Given the description of an element on the screen output the (x, y) to click on. 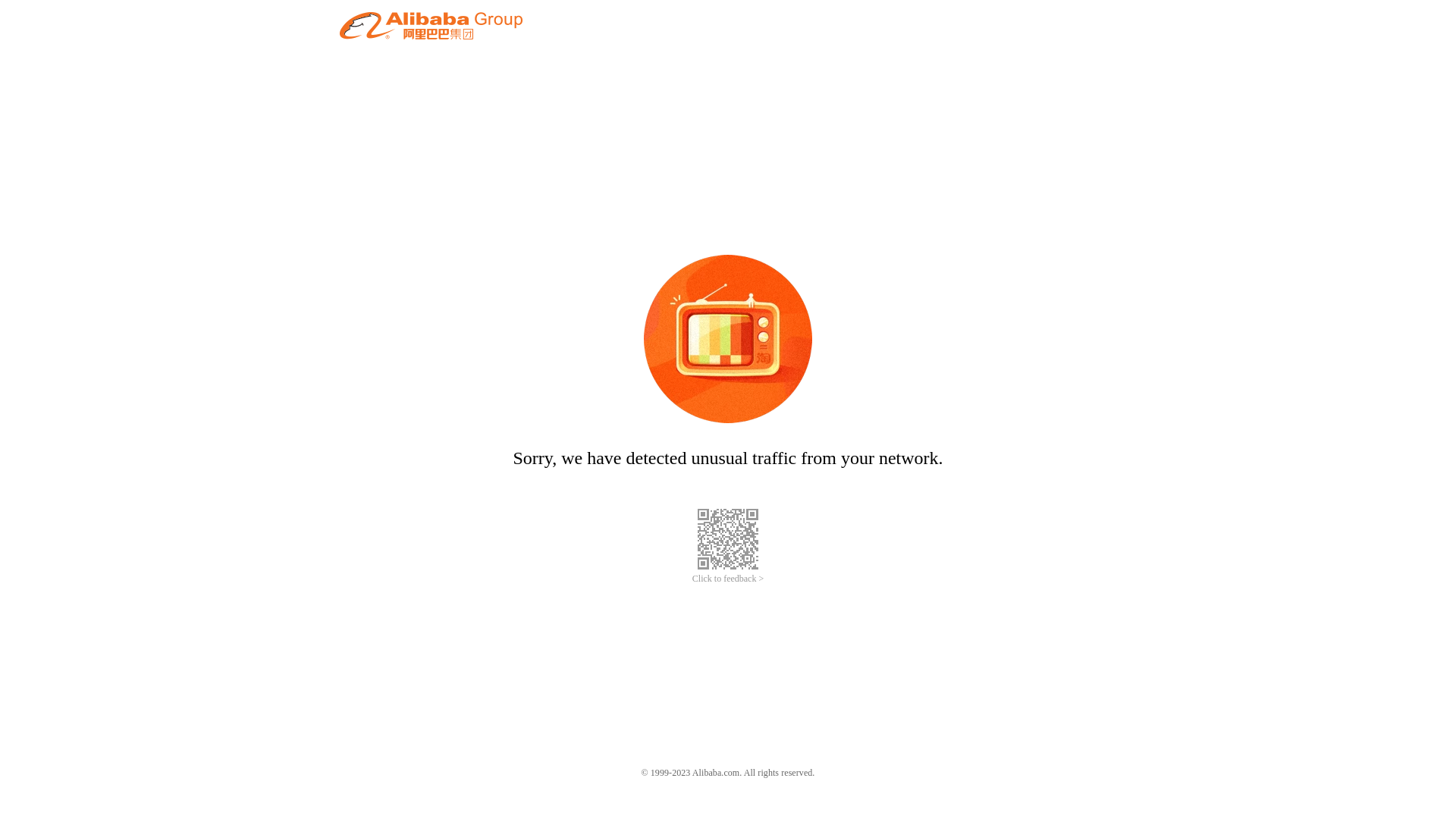
Click to feedback > Element type: text (727, 578)
